Given the description of an element on the screen output the (x, y) to click on. 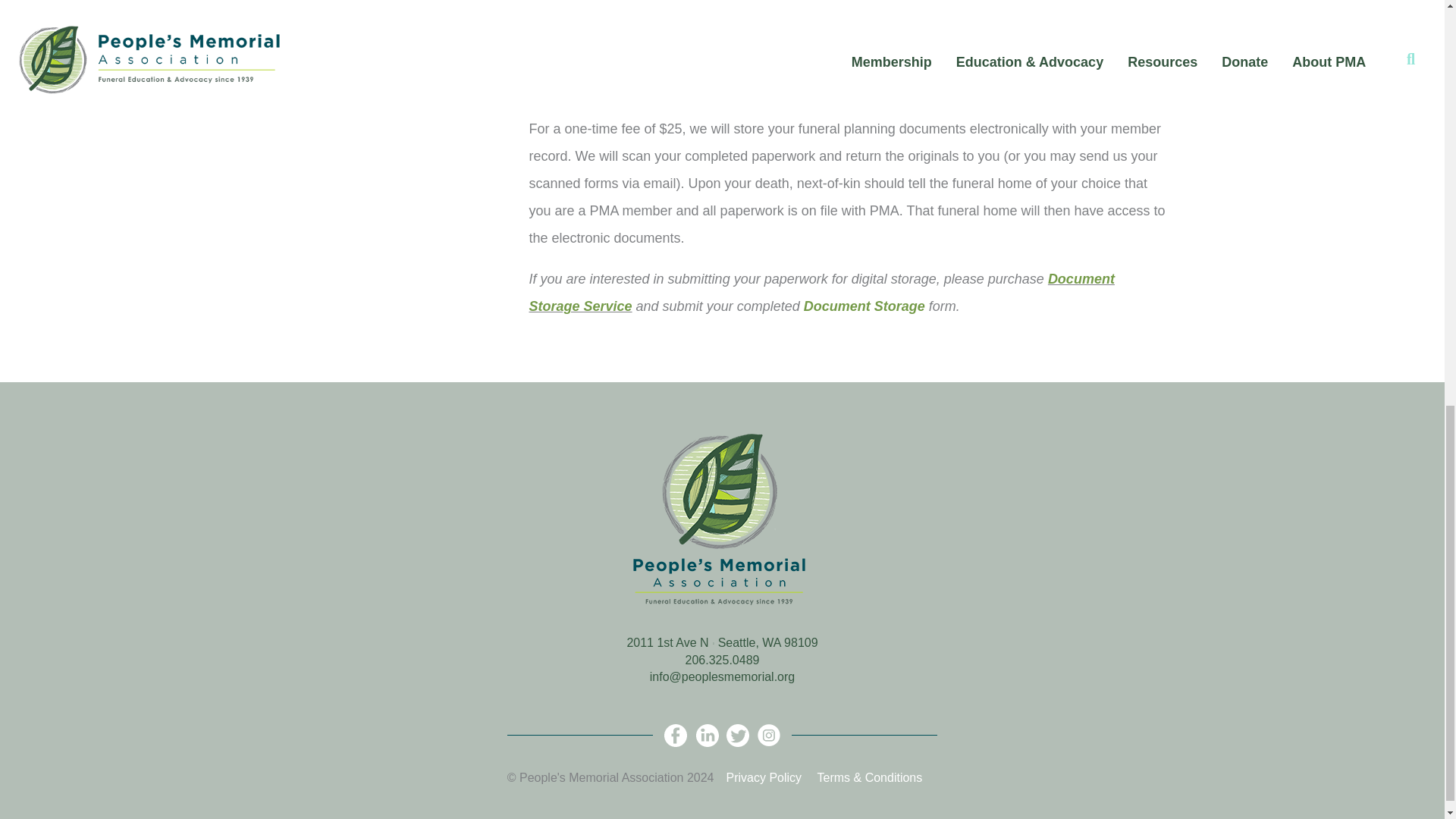
logo (721, 521)
